Given the description of an element on the screen output the (x, y) to click on. 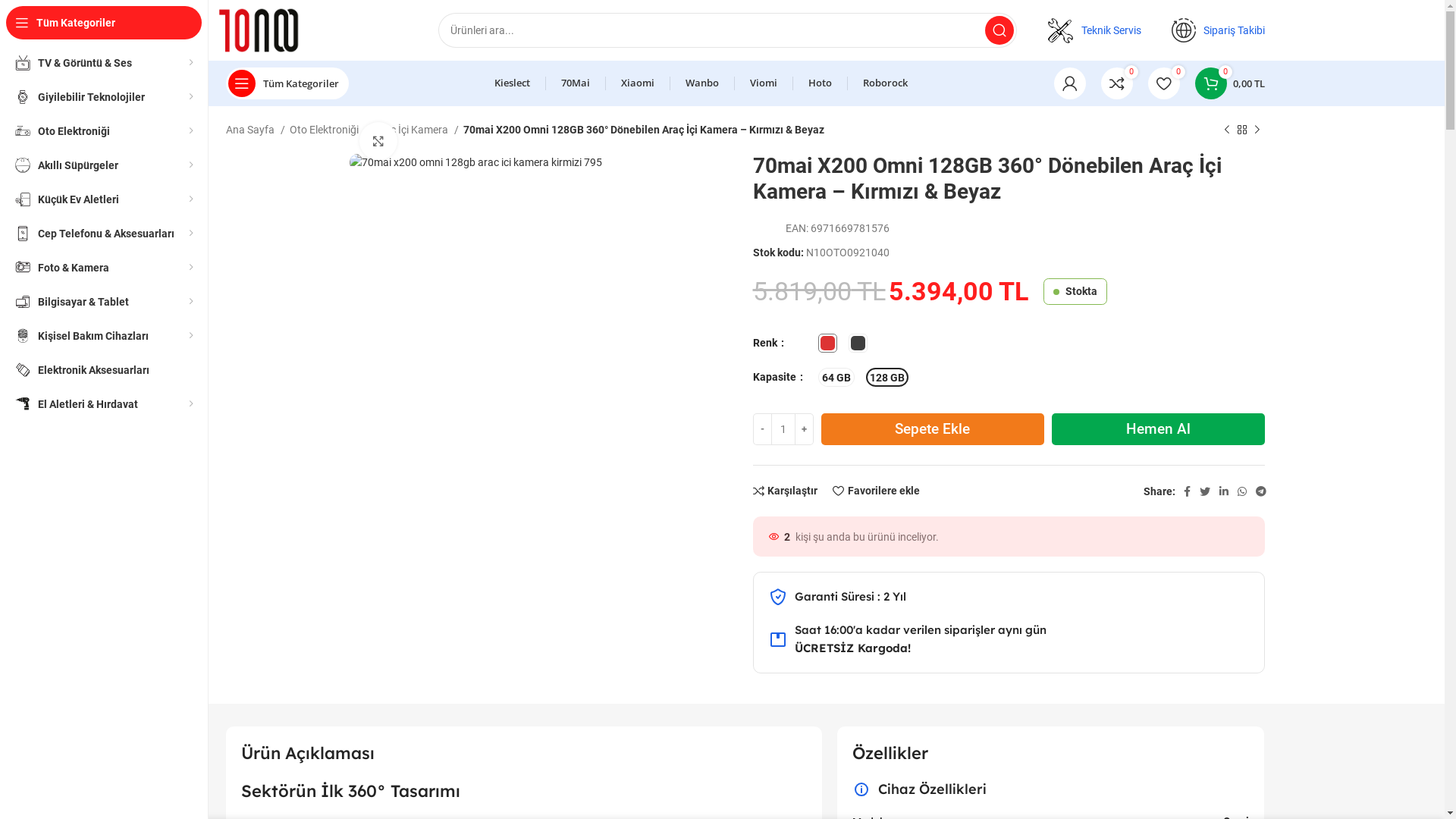
Foto & Kamera Element type: text (103, 267)
64 GB Element type: text (835, 376)
Wanbo Element type: text (701, 83)
Xiaomi Element type: text (637, 83)
Sepete Ekle Element type: text (932, 429)
70mai-x200-omni-128gb-arac-ici-kamera-kirmizi-795.jpg Element type: hover (475, 161)
return Element type: hover (777, 639)
0 Element type: text (1116, 83)
Hemen Al Element type: text (1157, 429)
Viomi Element type: text (763, 83)
Roborock Element type: text (884, 83)
0
0,00 TL Element type: text (1229, 83)
Teknik Servis Element type: text (1111, 30)
Giyilebilir Teknolojiler Element type: text (103, 96)
Hoto Element type: text (819, 83)
Kieslect Element type: text (512, 83)
Bilgisayar & Tablet Element type: text (103, 301)
0 Element type: text (1163, 83)
Arama Element type: text (998, 29)
Ana Sayfa Element type: text (255, 129)
128 GB Element type: text (887, 376)
Favorilere ekle Element type: text (875, 490)
70Mai Element type: text (575, 83)
overview Element type: hover (861, 789)
warranty Element type: hover (777, 596)
